Given the description of an element on the screen output the (x, y) to click on. 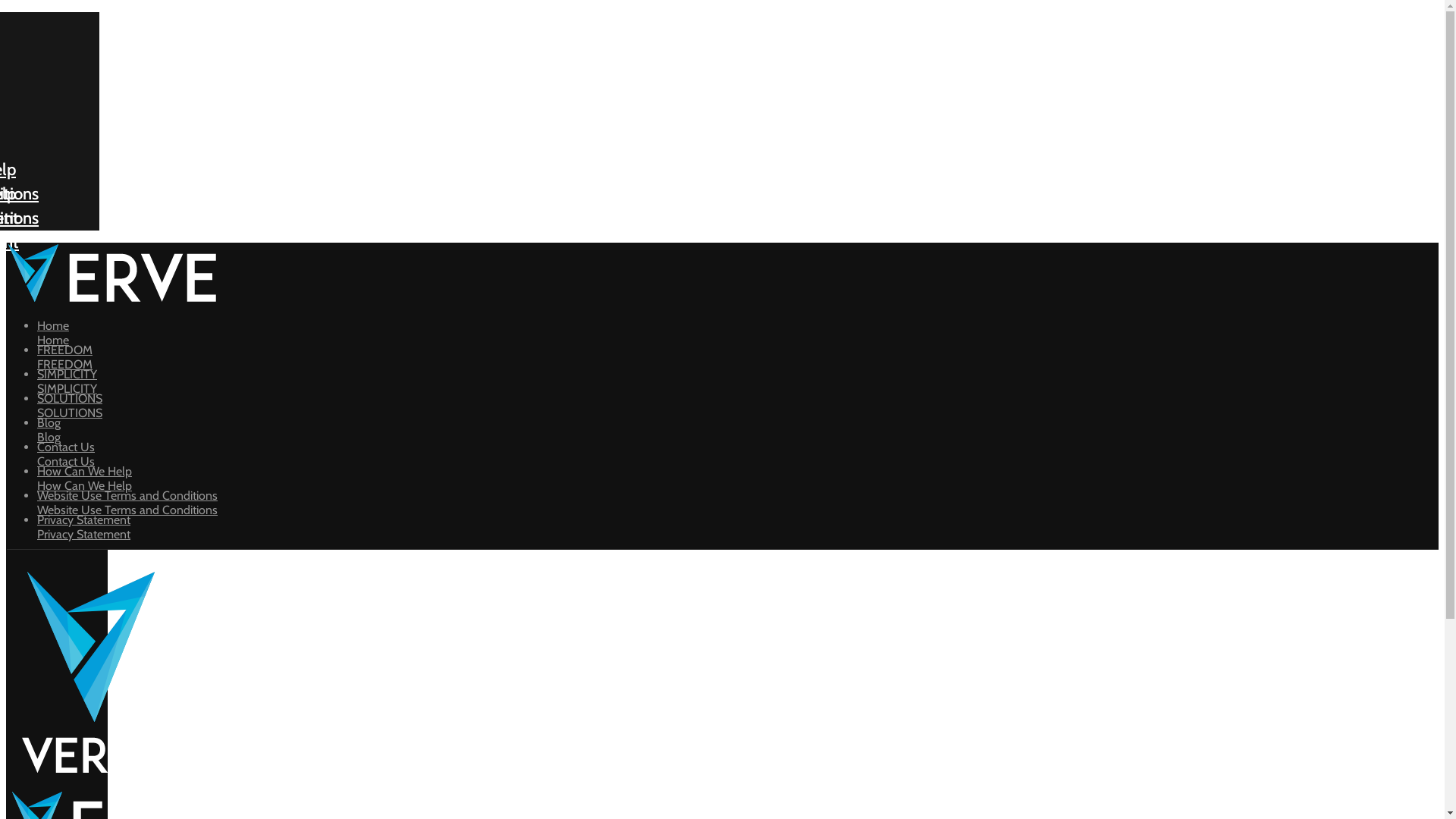
SOLUTIONS
SOLUTIONS Element type: text (737, 403)
SIMPLICITY
SIMPLICITY Element type: text (737, 379)
Blog
Blog Element type: text (737, 427)
Home
Home Element type: text (737, 330)
FREEDOM
FREEDOM Element type: text (737, 354)
How Can We Help
How Can We Help Element type: text (737, 476)
Privacy Statement
Privacy Statement Element type: text (737, 524)
Contact Us
Contact Us Element type: text (737, 451)
